Given the description of an element on the screen output the (x, y) to click on. 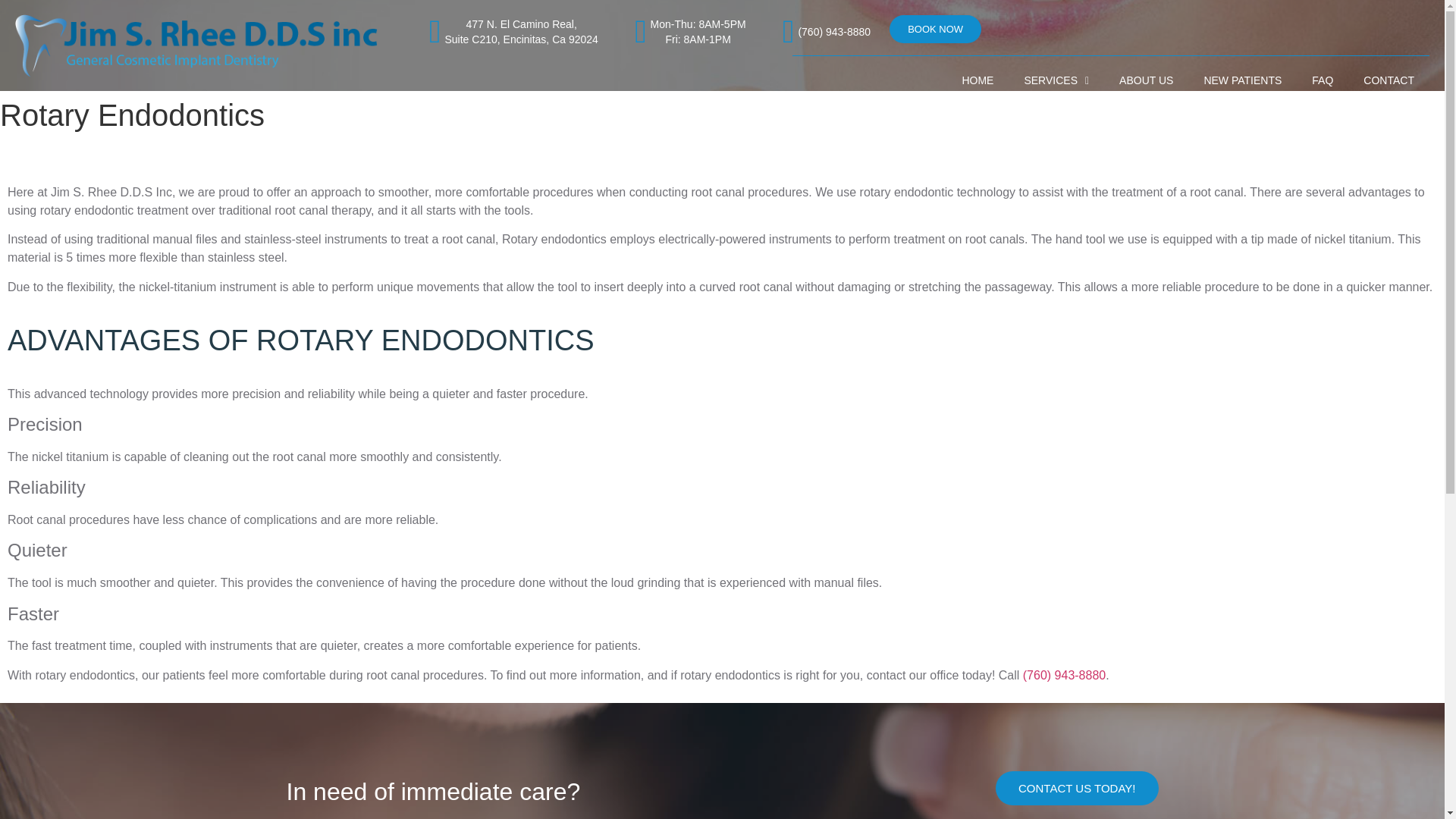
NEW PATIENTS (1242, 80)
FAQ (1322, 80)
BOOK NOW (935, 29)
ABOUT US (1145, 80)
HOME (977, 80)
CONTACT (499, 31)
SERVICES (1388, 80)
